Given the description of an element on the screen output the (x, y) to click on. 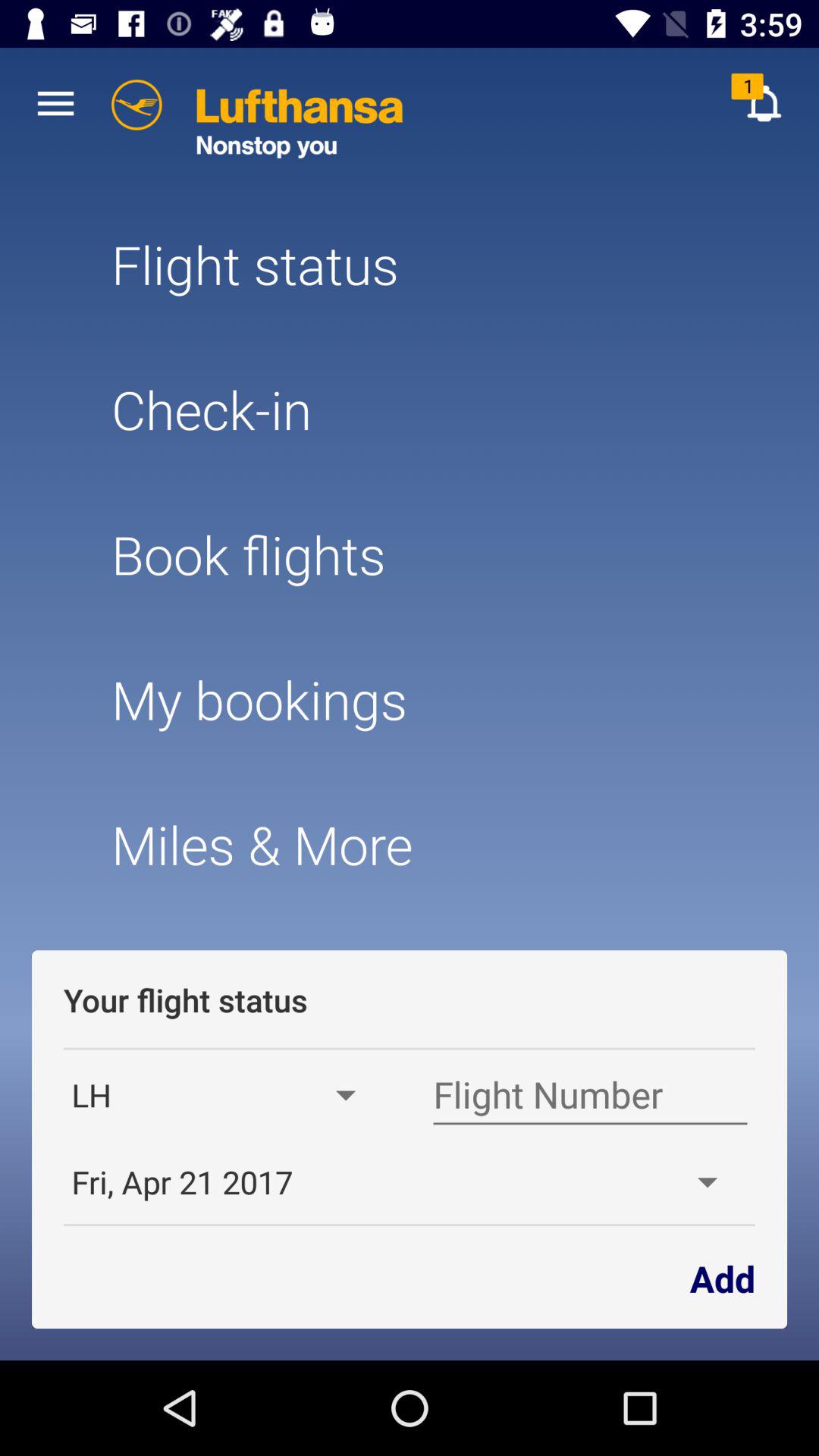
choose item below flight status item (409, 409)
